Given the description of an element on the screen output the (x, y) to click on. 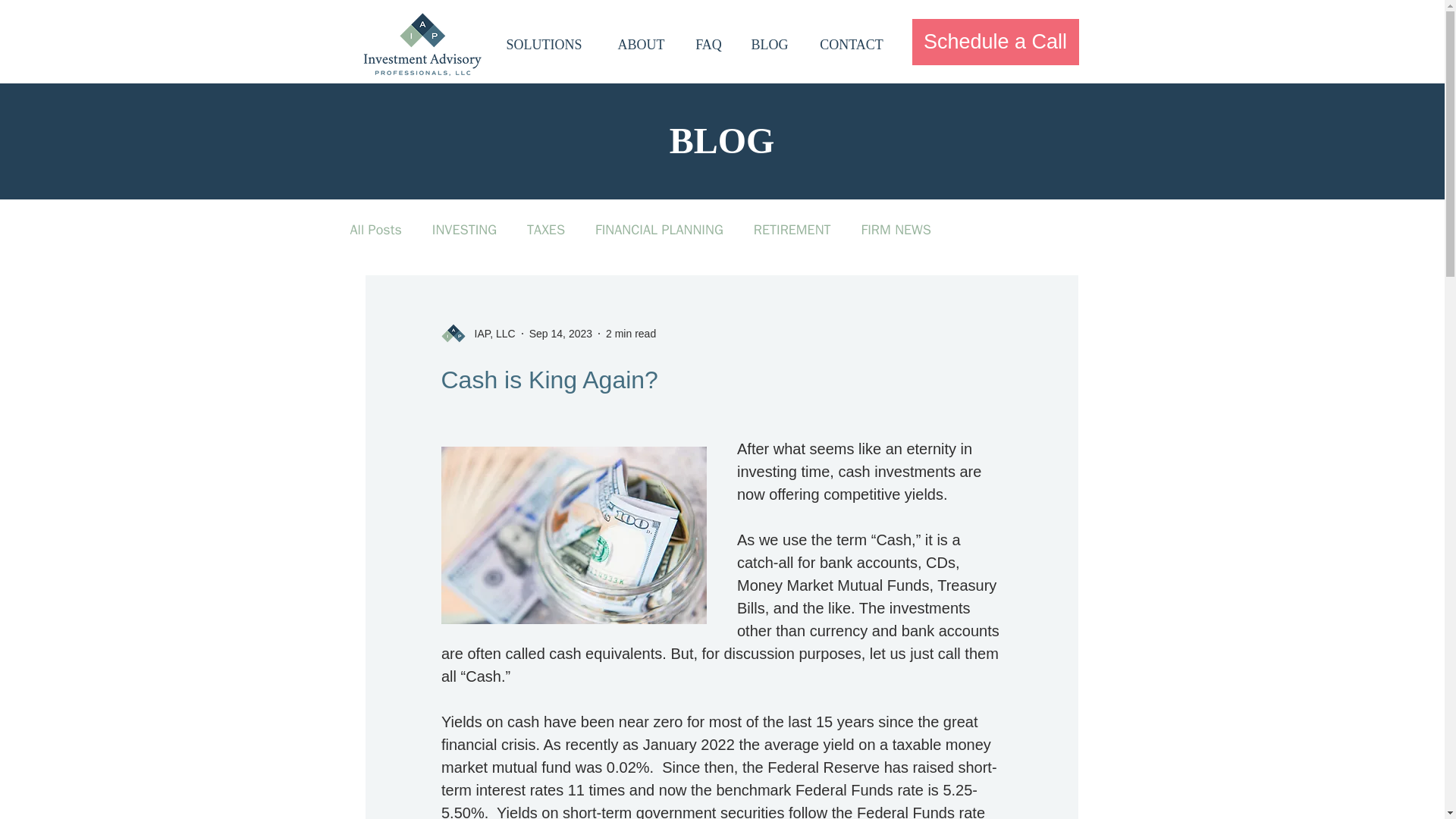
ABOUT (639, 44)
Sep 14, 2023 (560, 333)
INVESTING (464, 229)
CONTACT (850, 44)
FINANCIAL PLANNING (659, 229)
FAQ (708, 44)
2 min read (630, 333)
TAXES (545, 229)
All Posts (375, 229)
Schedule a Call (994, 41)
